Given the description of an element on the screen output the (x, y) to click on. 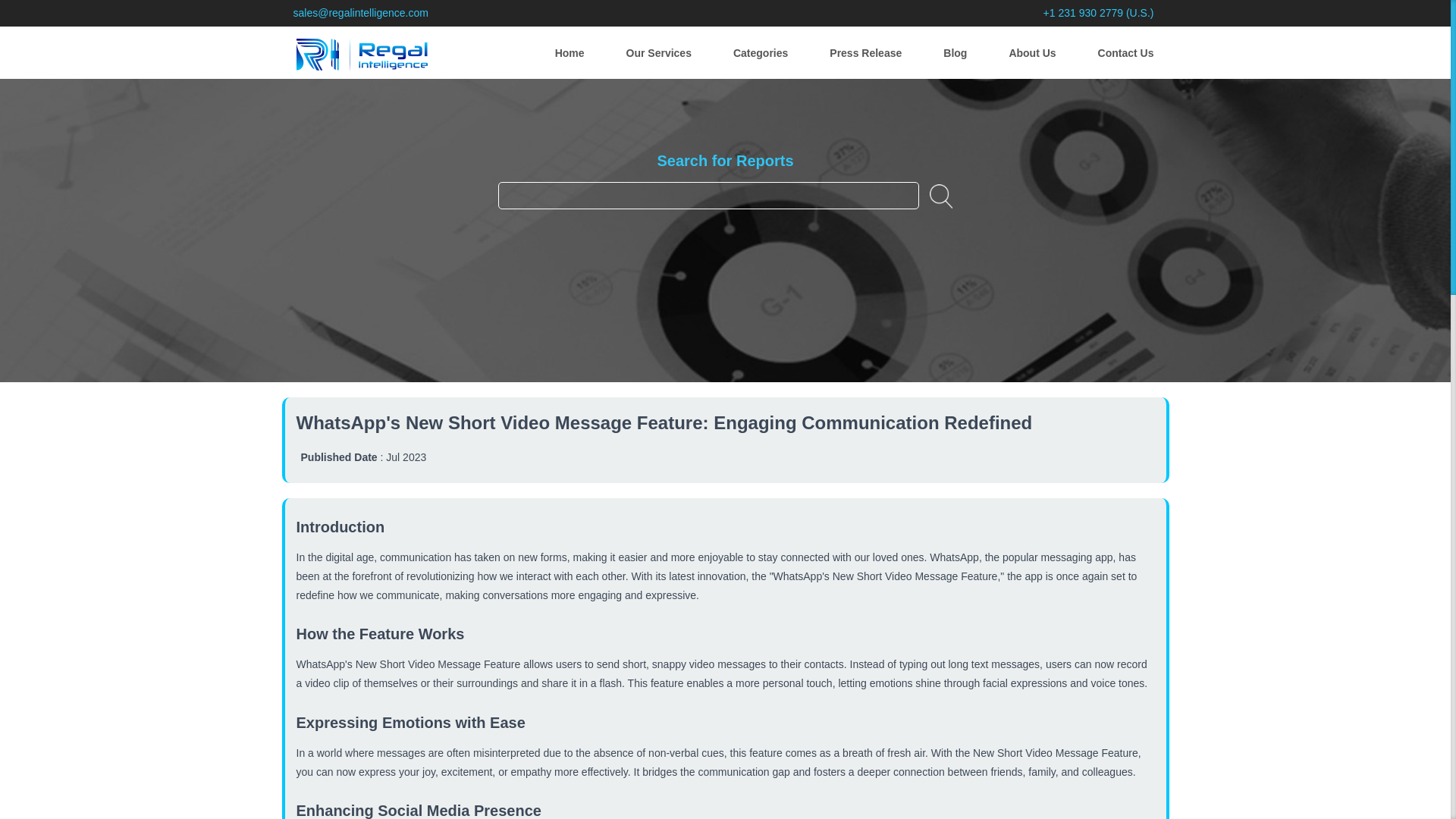
Press Release (865, 47)
About Us (1032, 47)
Categories (760, 47)
Home (569, 47)
Contact Us (1125, 47)
Our Services (658, 47)
